Given the description of an element on the screen output the (x, y) to click on. 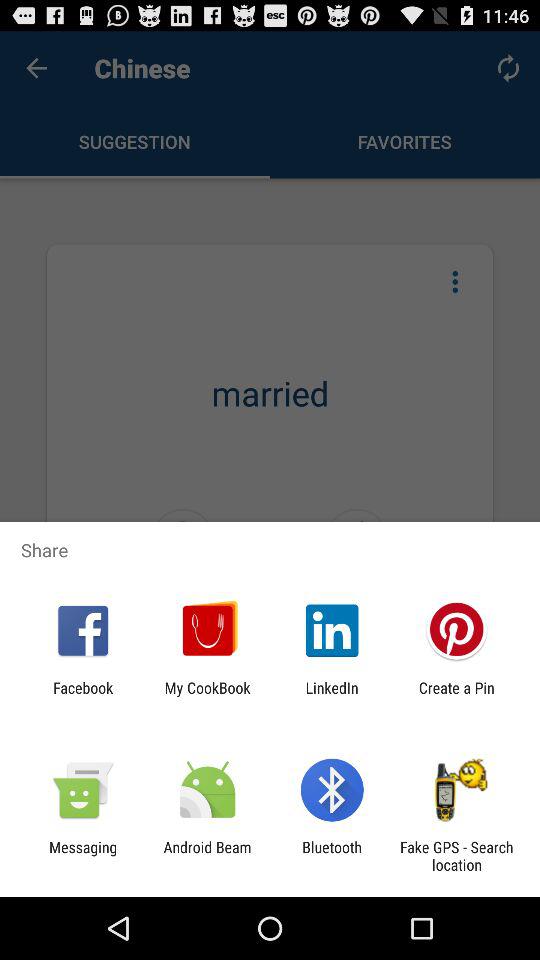
launch the app next to the linkedin (207, 696)
